Given the description of an element on the screen output the (x, y) to click on. 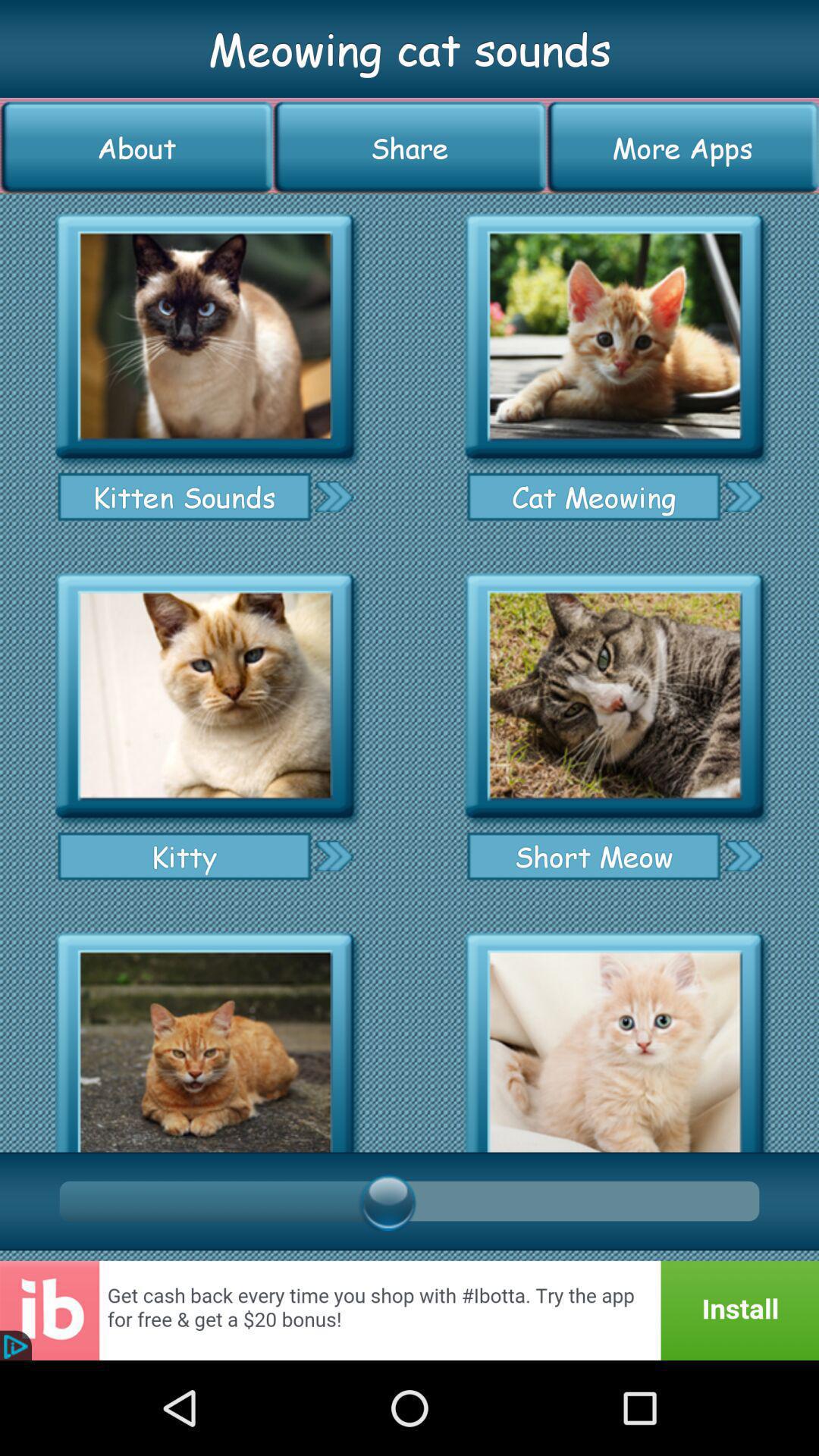
tap the button next to the more apps (409, 147)
